Given the description of an element on the screen output the (x, y) to click on. 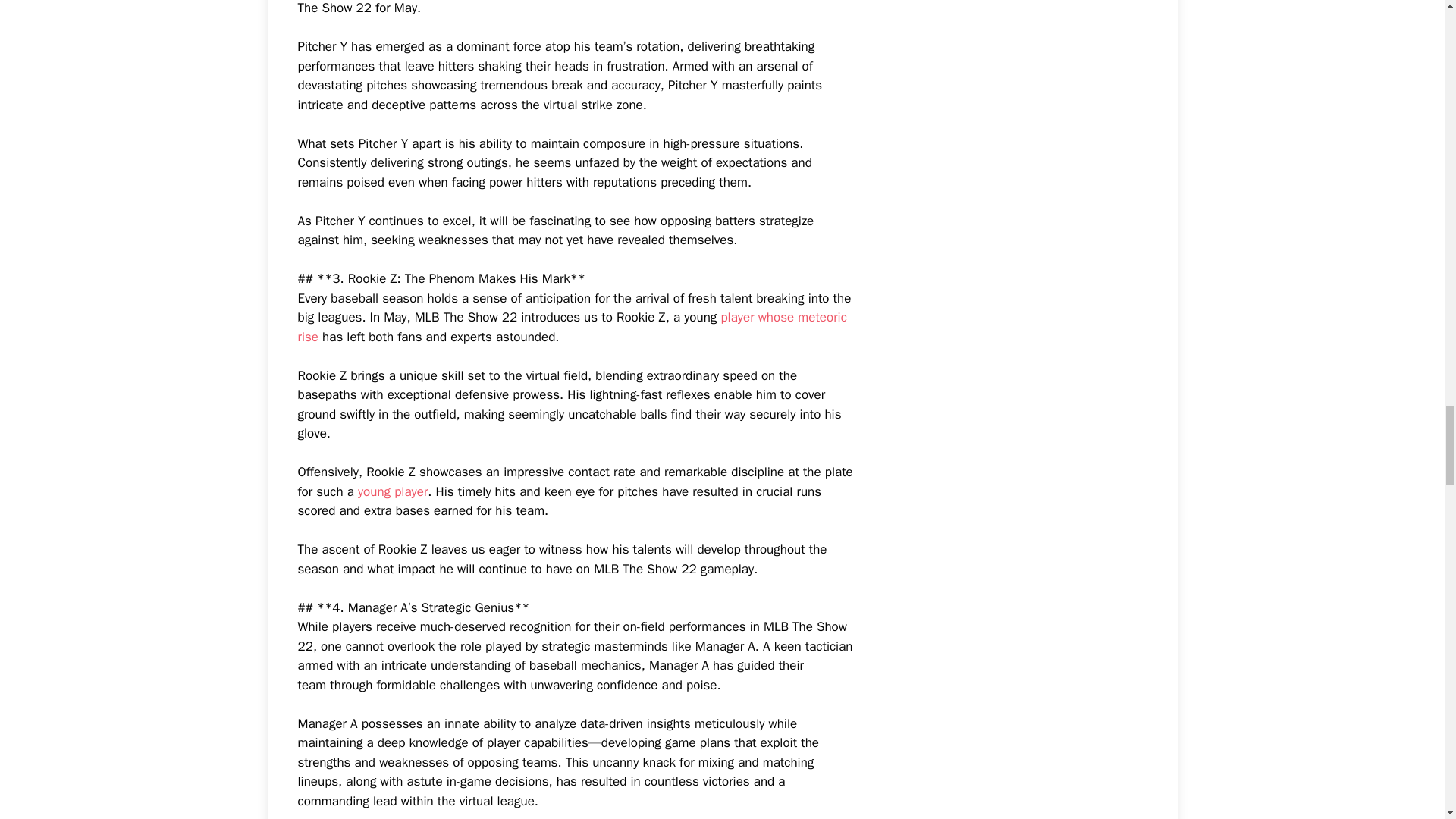
player whose meteoric rise (571, 326)
young player (393, 491)
